Given the description of an element on the screen output the (x, y) to click on. 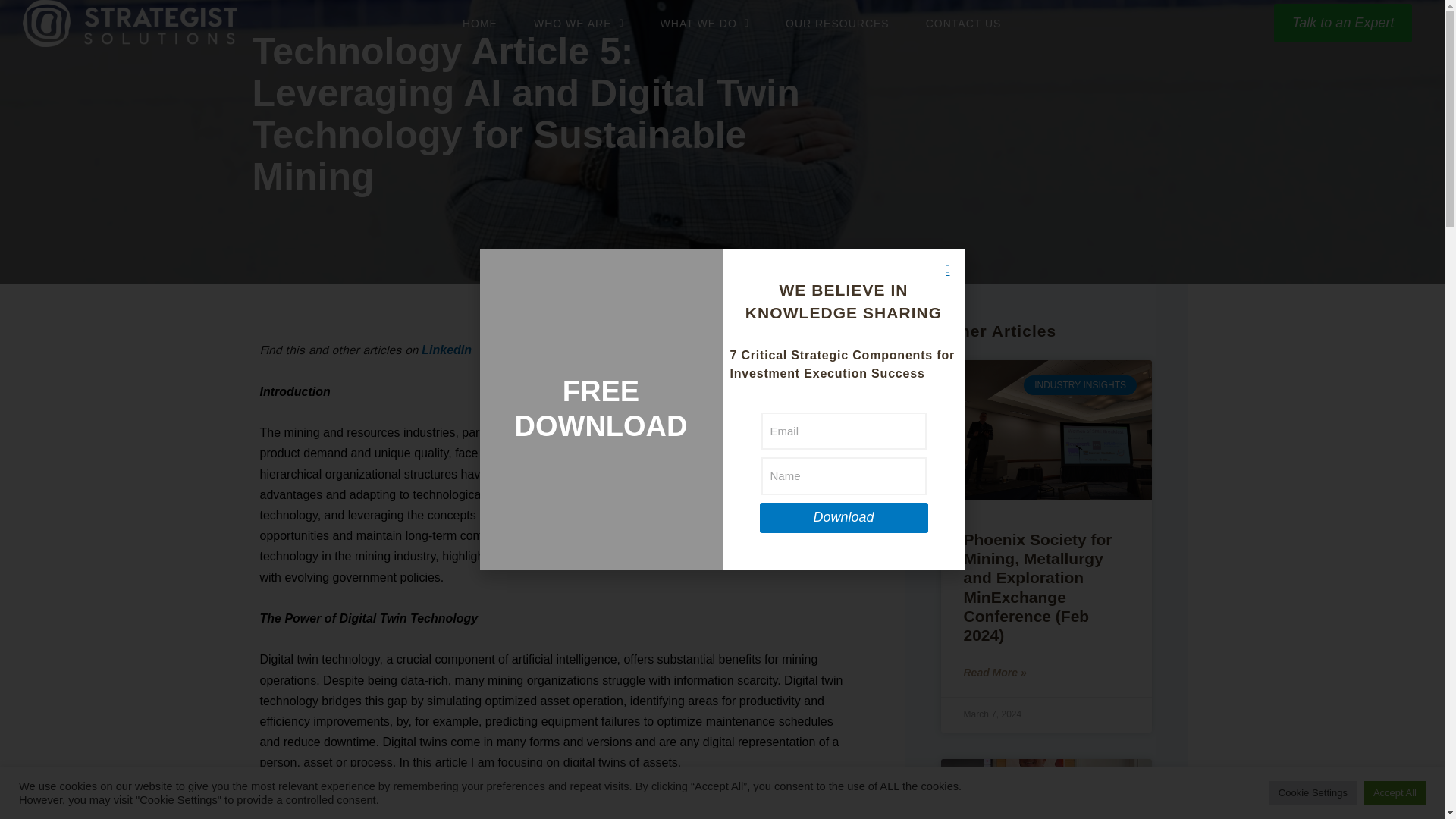
FREE DOWNLOAD (600, 408)
HOME (480, 22)
Other Articles (1004, 340)
WHO WE ARE (579, 22)
Talk to an Expert (1343, 23)
OUR RESOURCES (837, 22)
Download (842, 472)
WHAT WE DO (705, 22)
CONTACT US (732, 22)
WE BELIEVE IN KNOWLEDGE SHARING (963, 22)
